Given the description of an element on the screen output the (x, y) to click on. 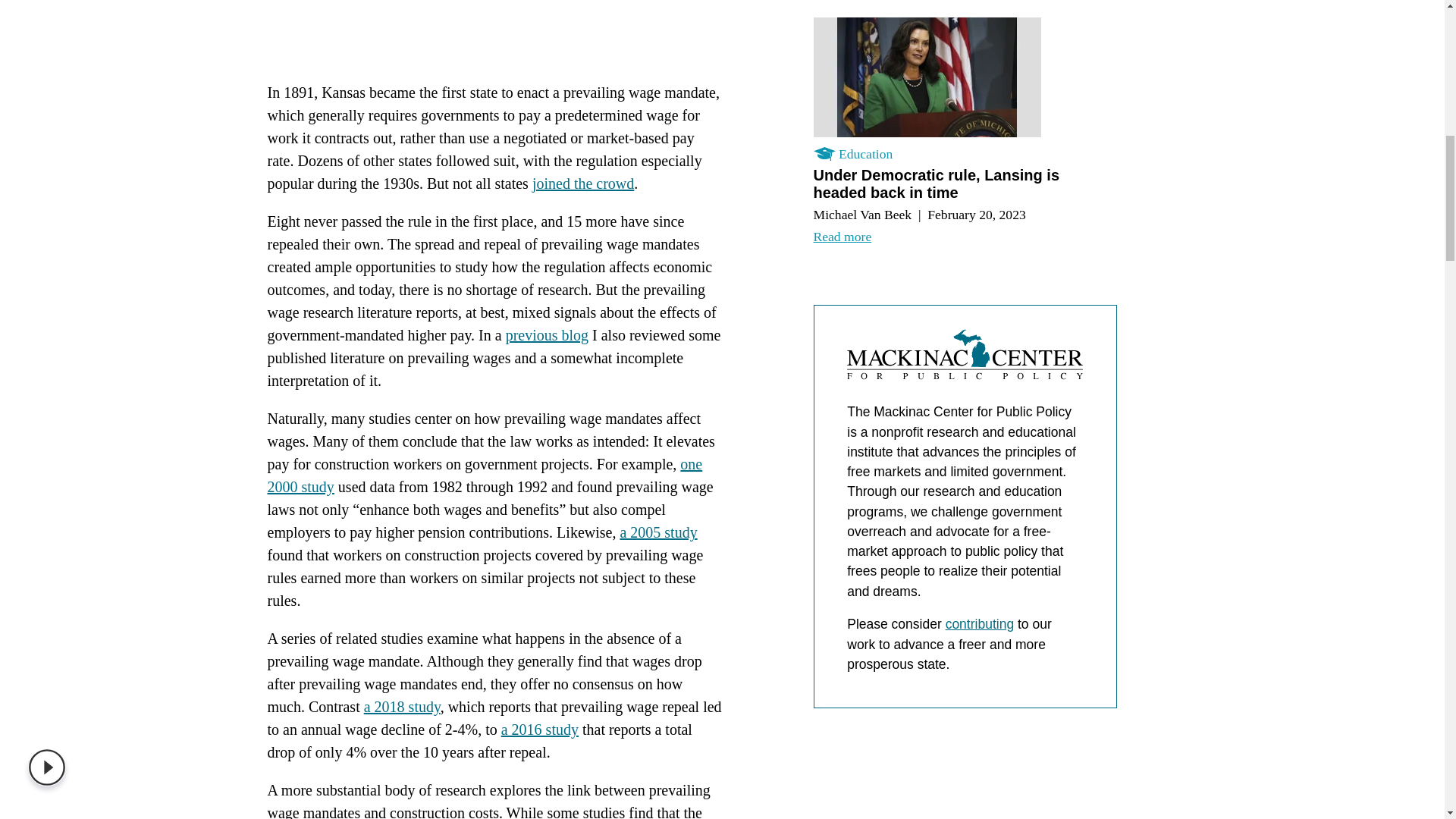
previous blog (546, 334)
one 2000 study (483, 475)
joined the crowd (582, 183)
a 2005 study (658, 532)
a 2018 study (402, 706)
a 2016 study (539, 729)
